Given the description of an element on the screen output the (x, y) to click on. 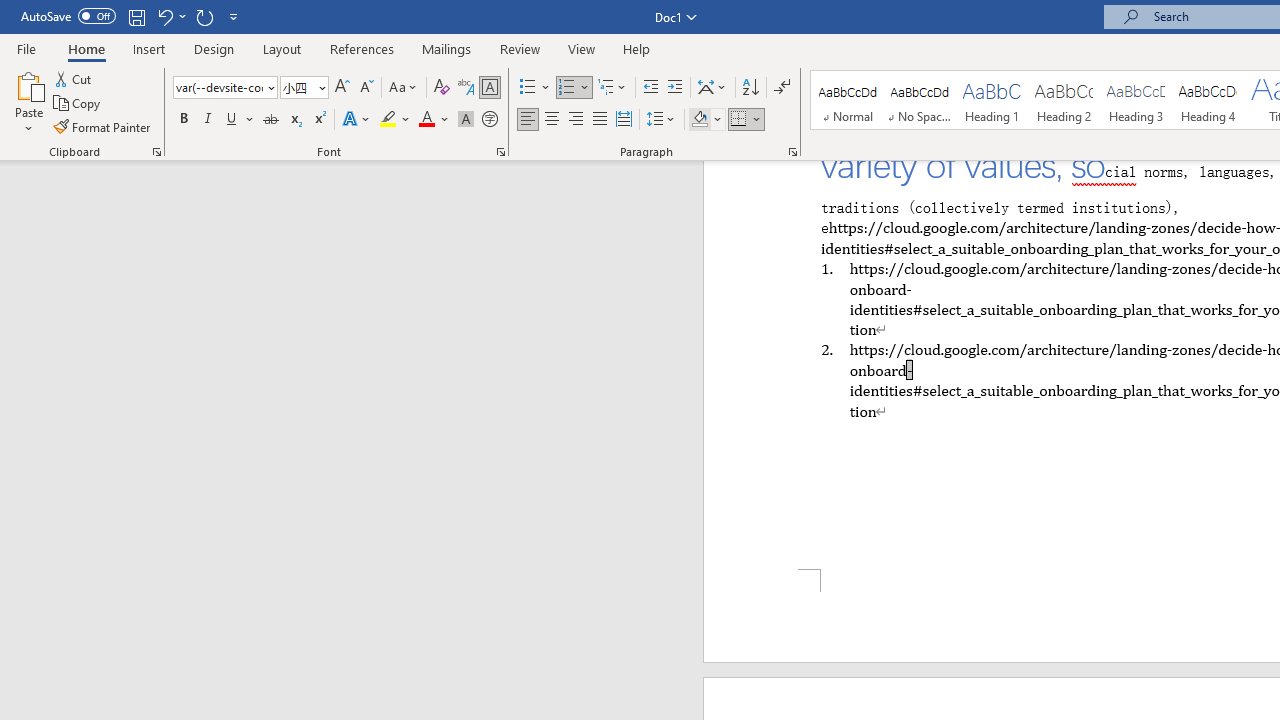
Sort... (750, 87)
Text Highlight Color Yellow (388, 119)
Undo Border Bottom (164, 15)
Asian Layout (712, 87)
Heading 1 (991, 100)
Align Right (575, 119)
Text Highlight Color (395, 119)
